Given the description of an element on the screen output the (x, y) to click on. 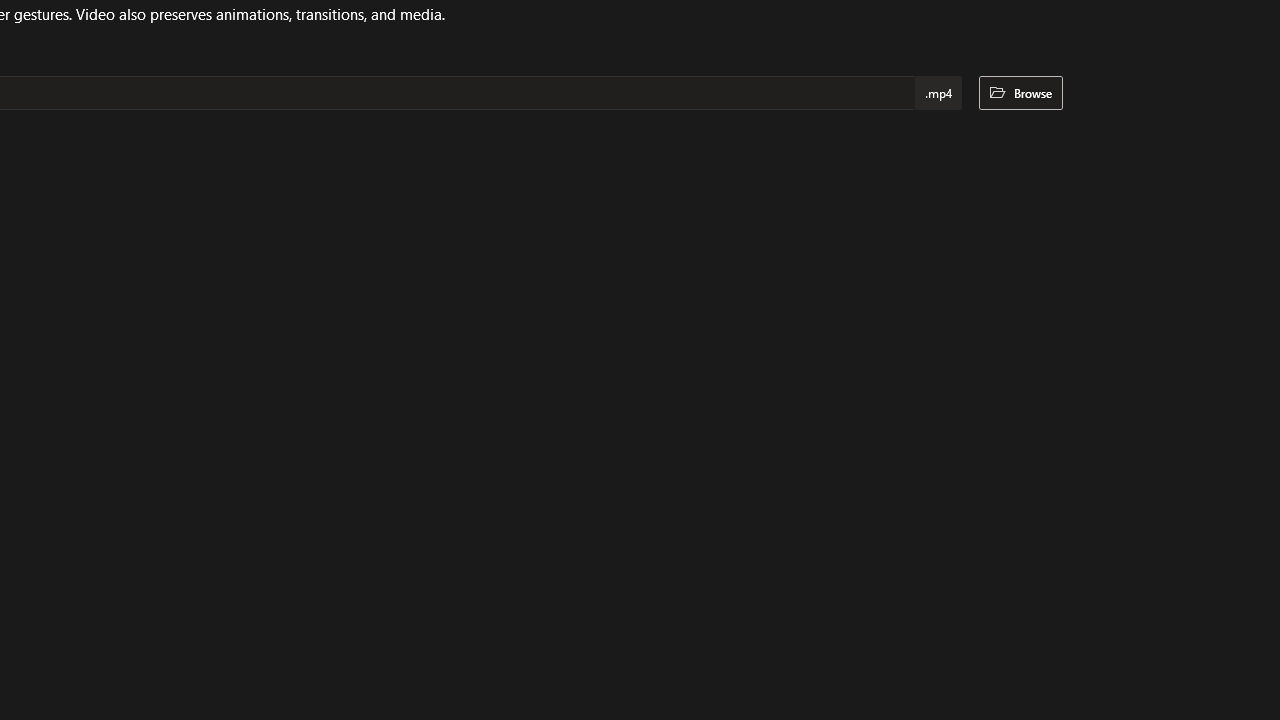
Zoom 59% (1236, 668)
